Given the description of an element on the screen output the (x, y) to click on. 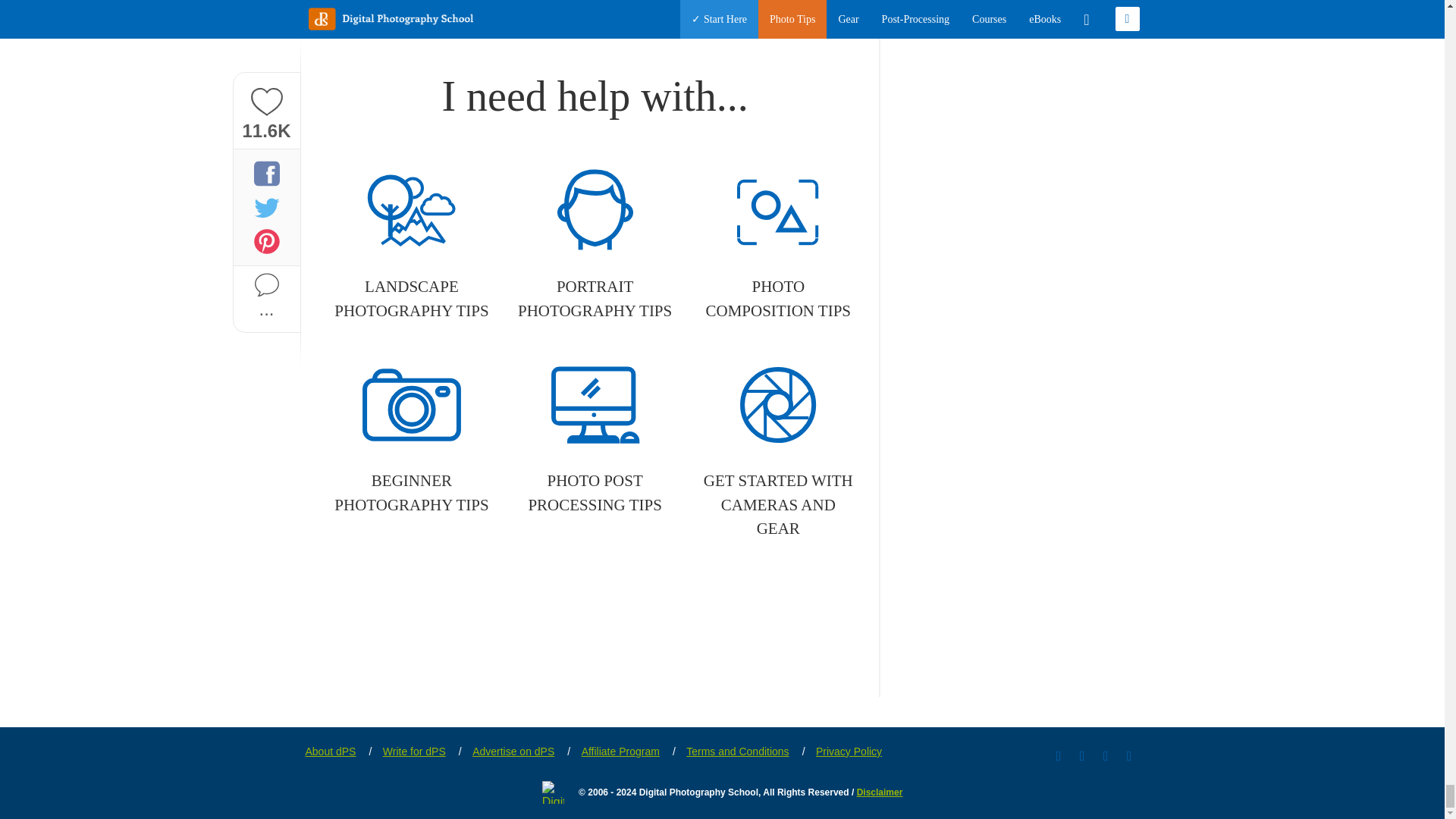
Photo Composition Tips (778, 244)
Landscape Photography Tips (411, 244)
Portrait Photography Tips (595, 244)
